Given the description of an element on the screen output the (x, y) to click on. 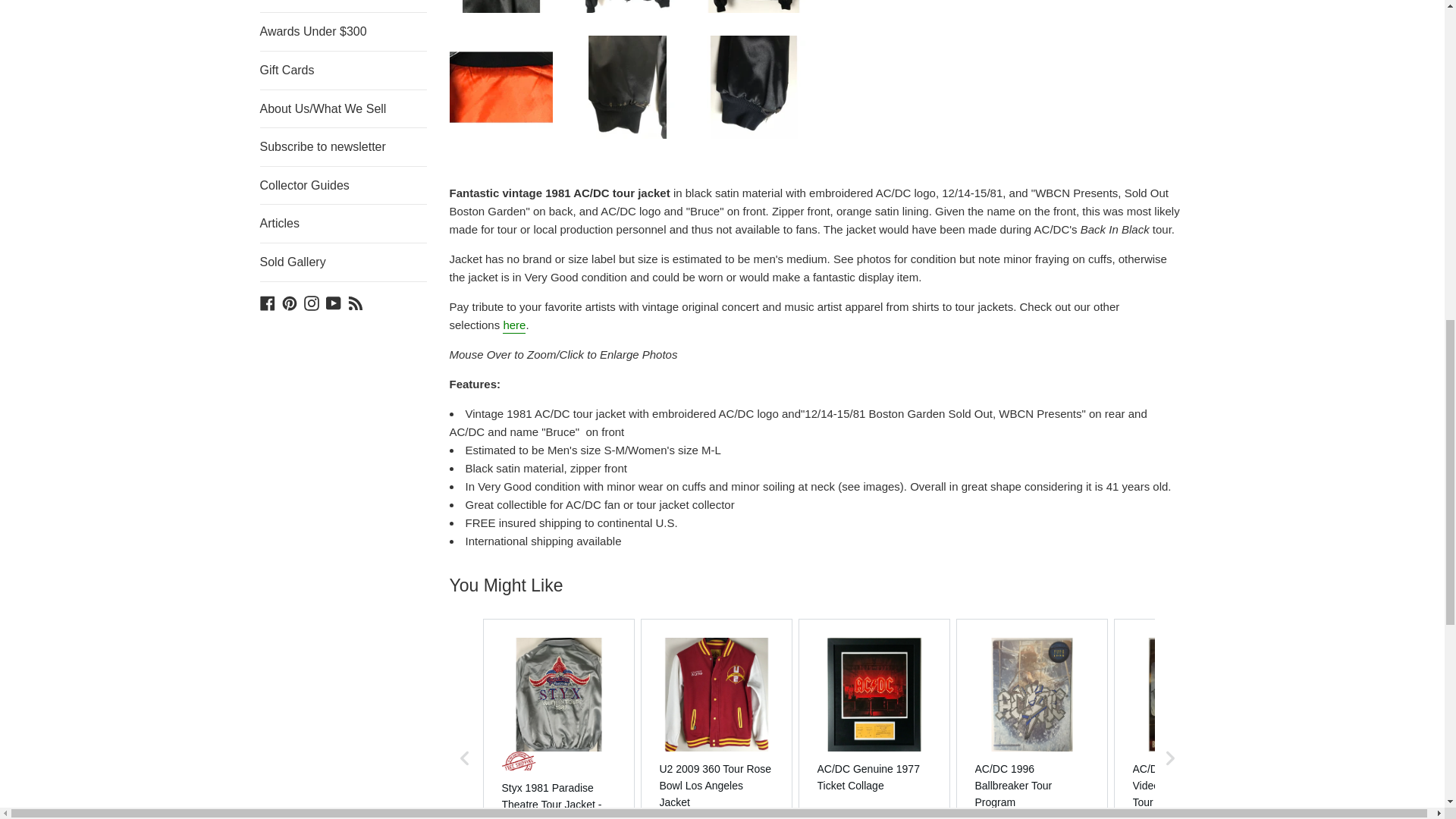
MusicGoldmine.com on Facebook (267, 301)
Collector Guides (342, 185)
MusicGoldmine.com on Pinterest (289, 301)
YouTube (333, 301)
U2 2009 360 Tour Rose Bowl Los Angeles Jacket (716, 785)
Gift Cards (342, 70)
Subscribe to newsletter (342, 146)
Articles (342, 223)
MusicGoldmine music apparel items (513, 325)
MusicGoldmine.com on YouTube (333, 301)
Instagram (311, 301)
Facebook (267, 301)
MusicGoldmine.com on Instagram (311, 301)
Pinterest (289, 301)
Sold Gallery (342, 262)
